Given the description of an element on the screen output the (x, y) to click on. 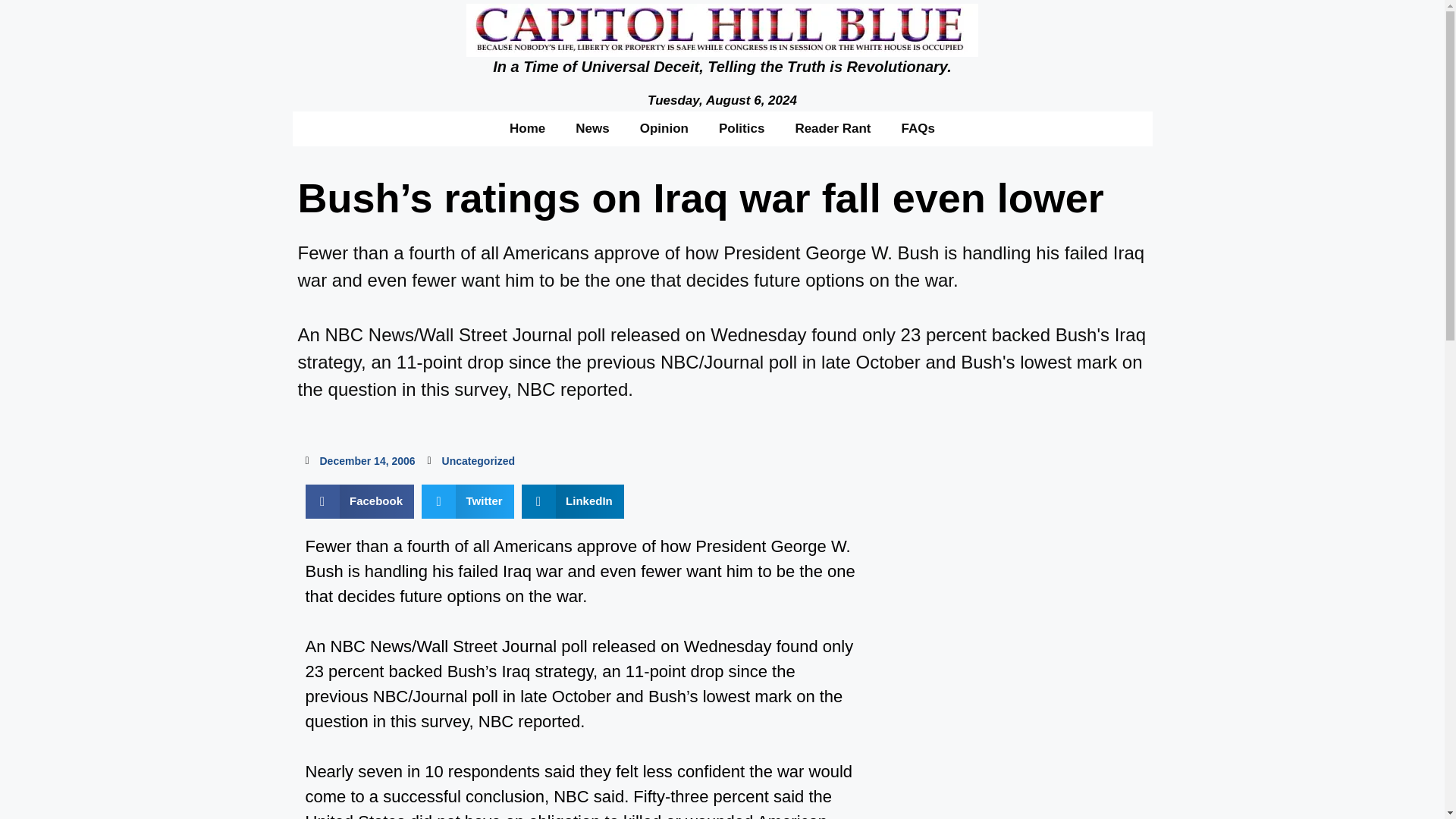
Home (527, 127)
Opinion (663, 127)
Reader Rant (831, 127)
News (592, 127)
December 14, 2006 (359, 461)
FAQs (918, 127)
Uncategorized (478, 460)
Politics (740, 127)
